Given the description of an element on the screen output the (x, y) to click on. 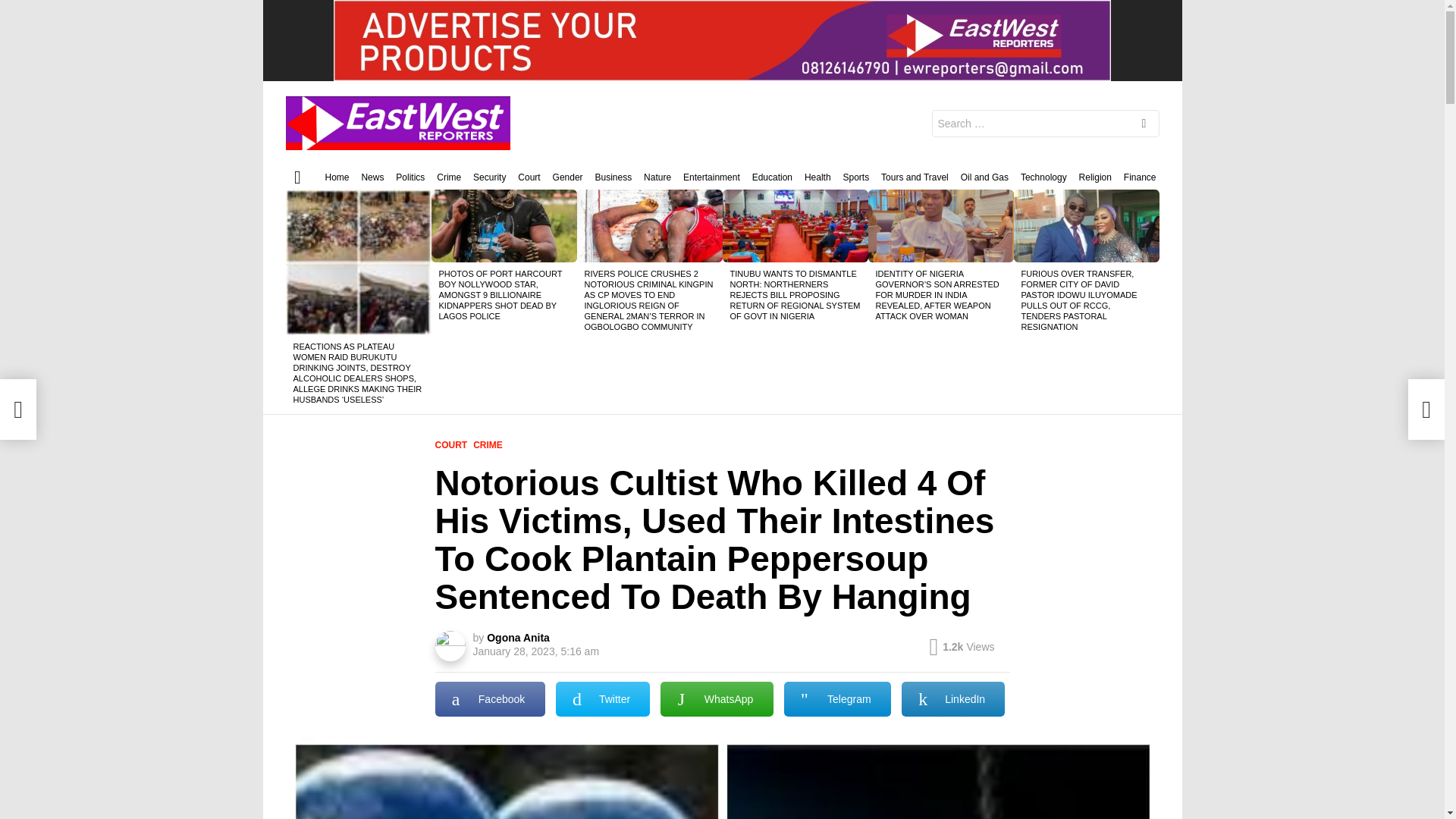
Health (818, 177)
Gender (568, 177)
Share on WhatsApp (717, 698)
Business (613, 177)
Sports (856, 177)
Search for: (1044, 123)
Security (489, 177)
Tours and Travel (914, 177)
Oil and Gas (984, 177)
Finance (1140, 177)
Share on Facebook (489, 698)
Technology (1043, 177)
